Given the description of an element on the screen output the (x, y) to click on. 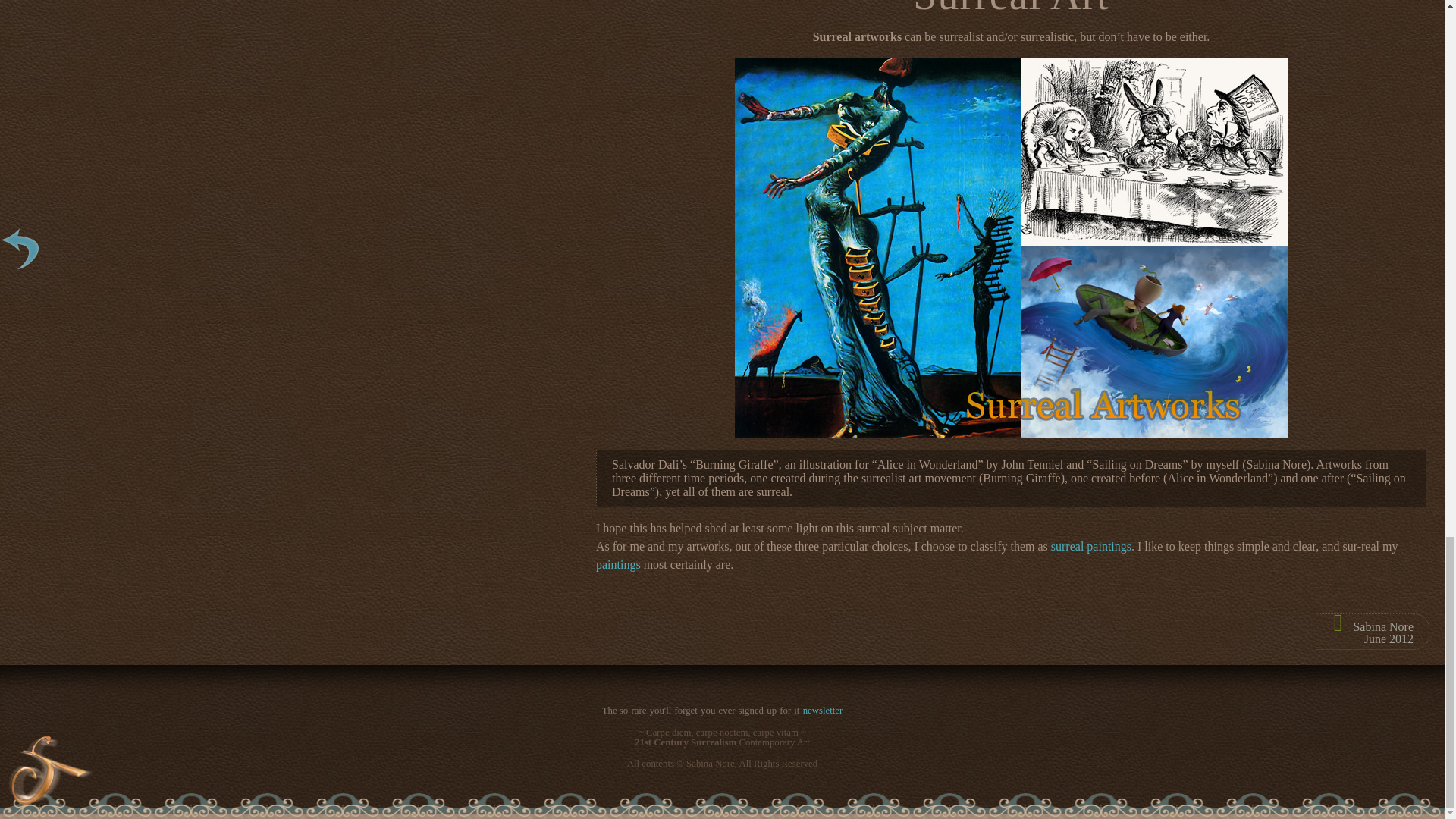
surreal paintings (1091, 545)
paintings (617, 563)
newsletter (823, 710)
Surreal Paintings (1091, 545)
